Given the description of an element on the screen output the (x, y) to click on. 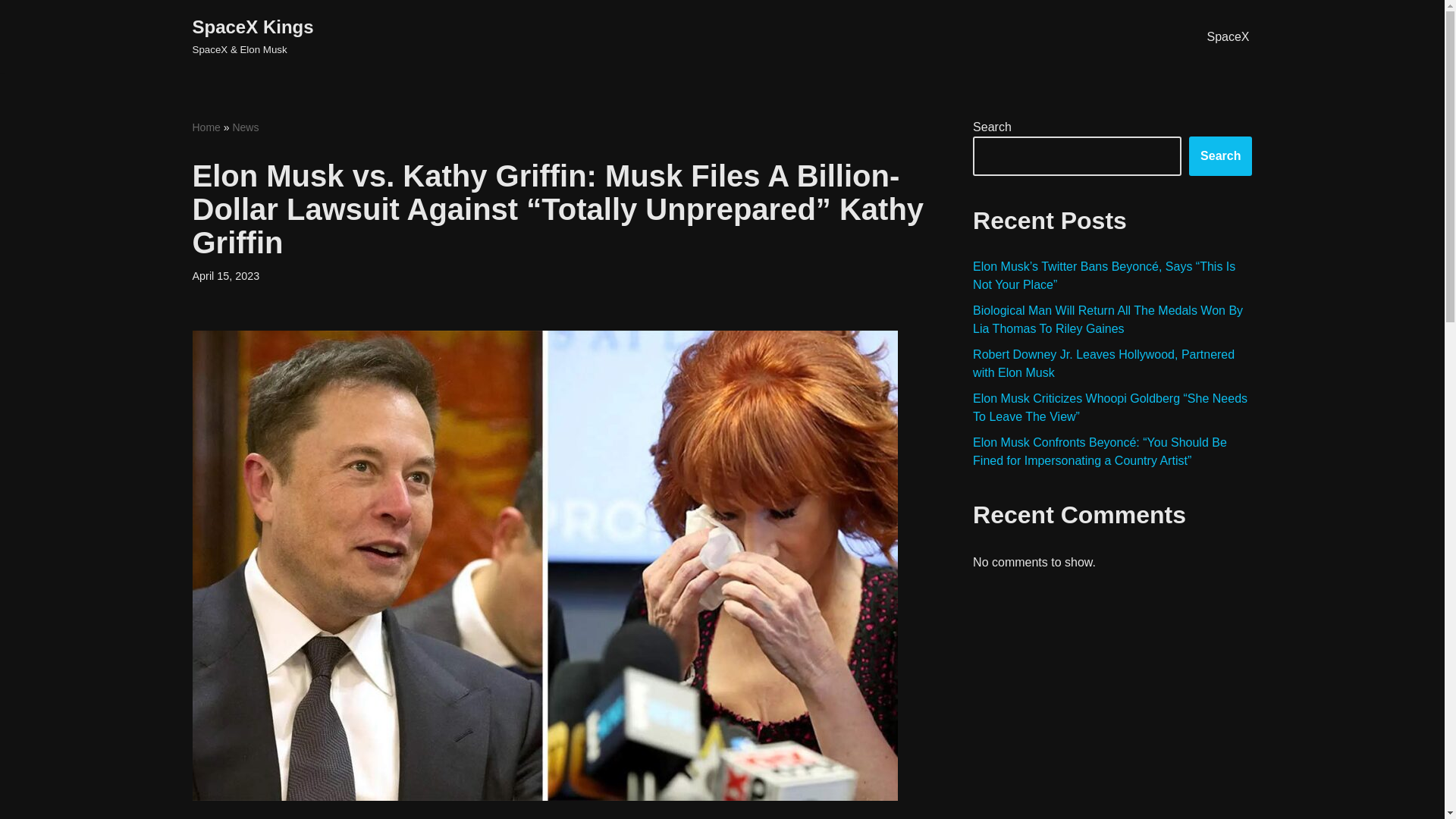
Robert Downey Jr. Leaves Hollywood, Partnered with Elon Musk (1103, 363)
Skip to content (11, 31)
Search (1220, 156)
News (245, 127)
SpaceX (1228, 36)
Home (206, 127)
